Given the description of an element on the screen output the (x, y) to click on. 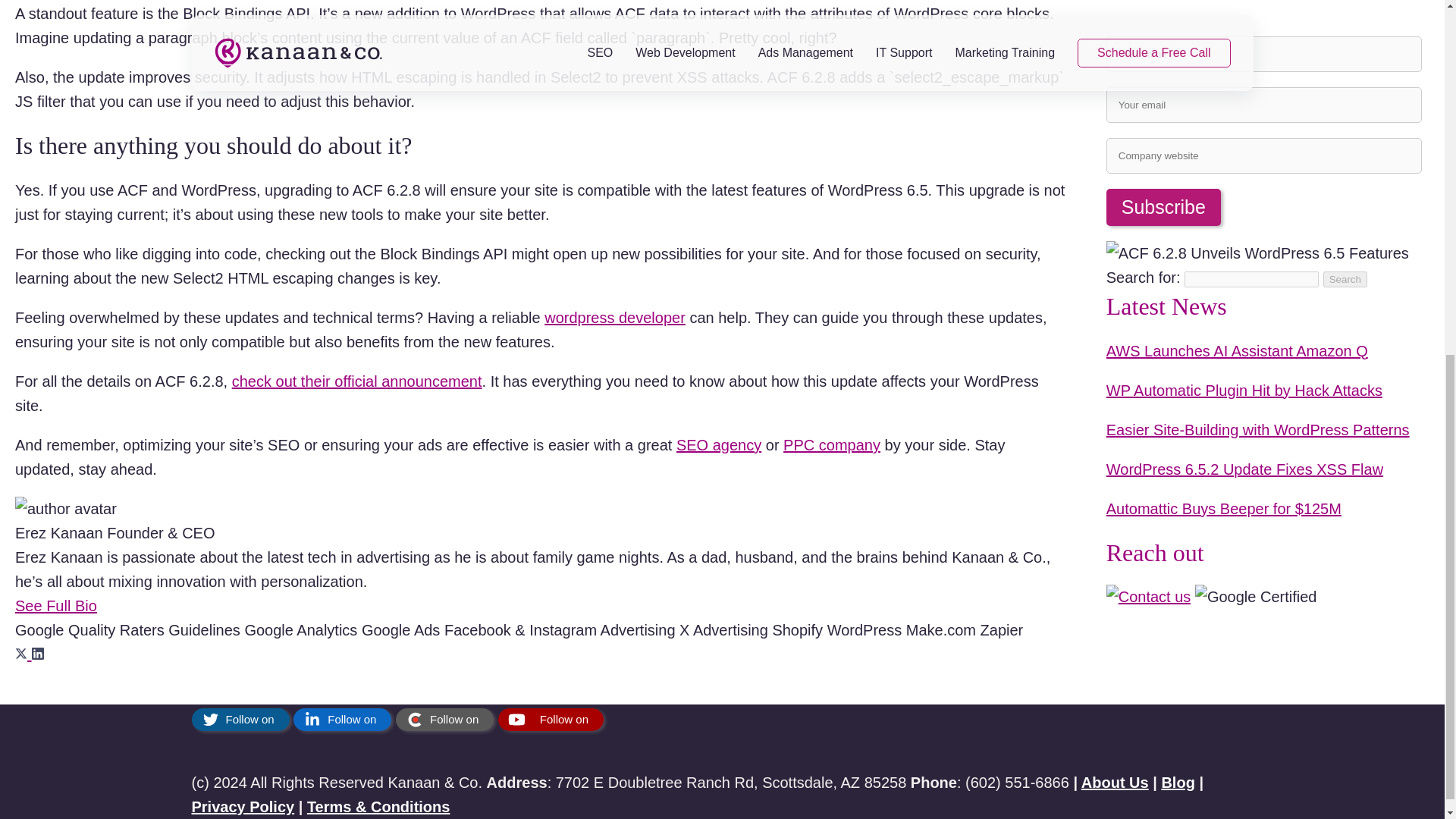
Follow on (342, 719)
check out their official announcement (356, 381)
About Us (1114, 782)
WordPress 6.5.2 Update Fixes XSS Flaw (1244, 300)
Follow on (550, 719)
Search (1345, 110)
Follow on (239, 719)
SEO agency (719, 444)
Blog (1176, 782)
PPC company (831, 444)
